Given the description of an element on the screen output the (x, y) to click on. 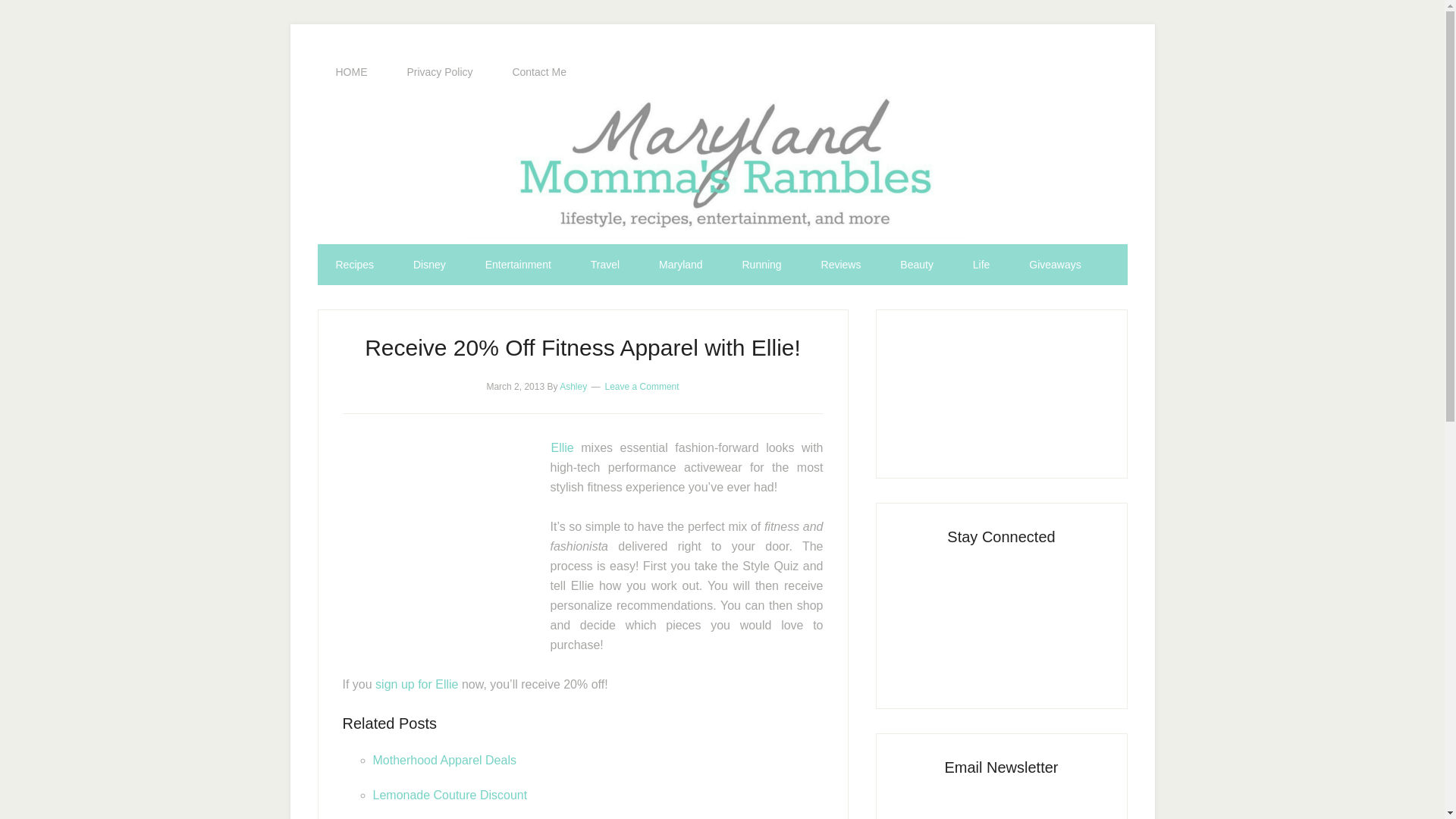
Running (761, 264)
Ashley (572, 386)
Contact Me (539, 71)
Travel (604, 264)
Giveaways (1054, 264)
Recipes (354, 264)
sign up for Ellie (415, 684)
Reviews (841, 264)
Entertainment (518, 264)
Lemonade Couture Discount (449, 794)
Privacy Policy (439, 71)
Ellie (561, 447)
Maryland (680, 264)
Life (982, 264)
Leave a Comment (642, 386)
